Given the description of an element on the screen output the (x, y) to click on. 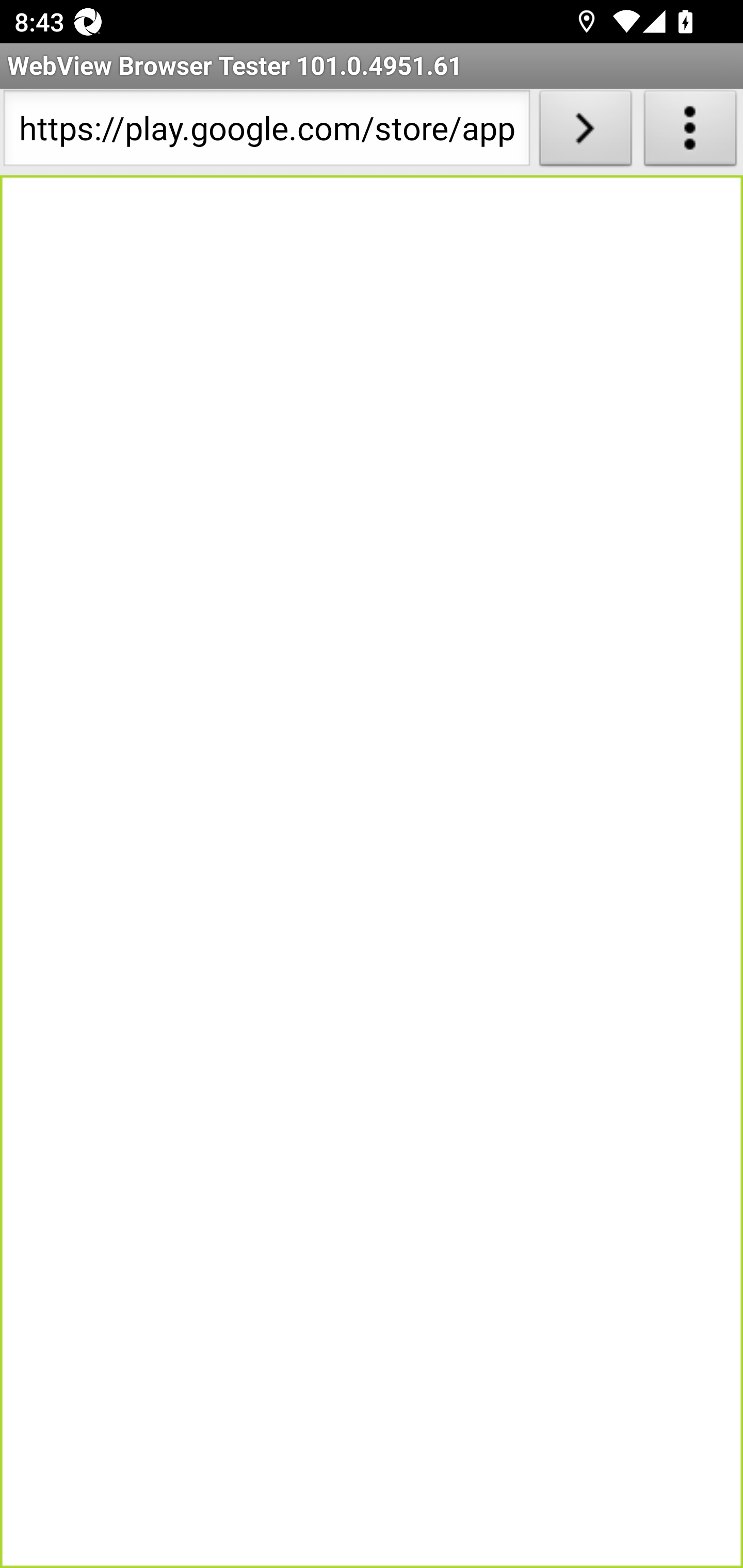
Load URL (585, 132)
About WebView (690, 132)
